Given the description of an element on the screen output the (x, y) to click on. 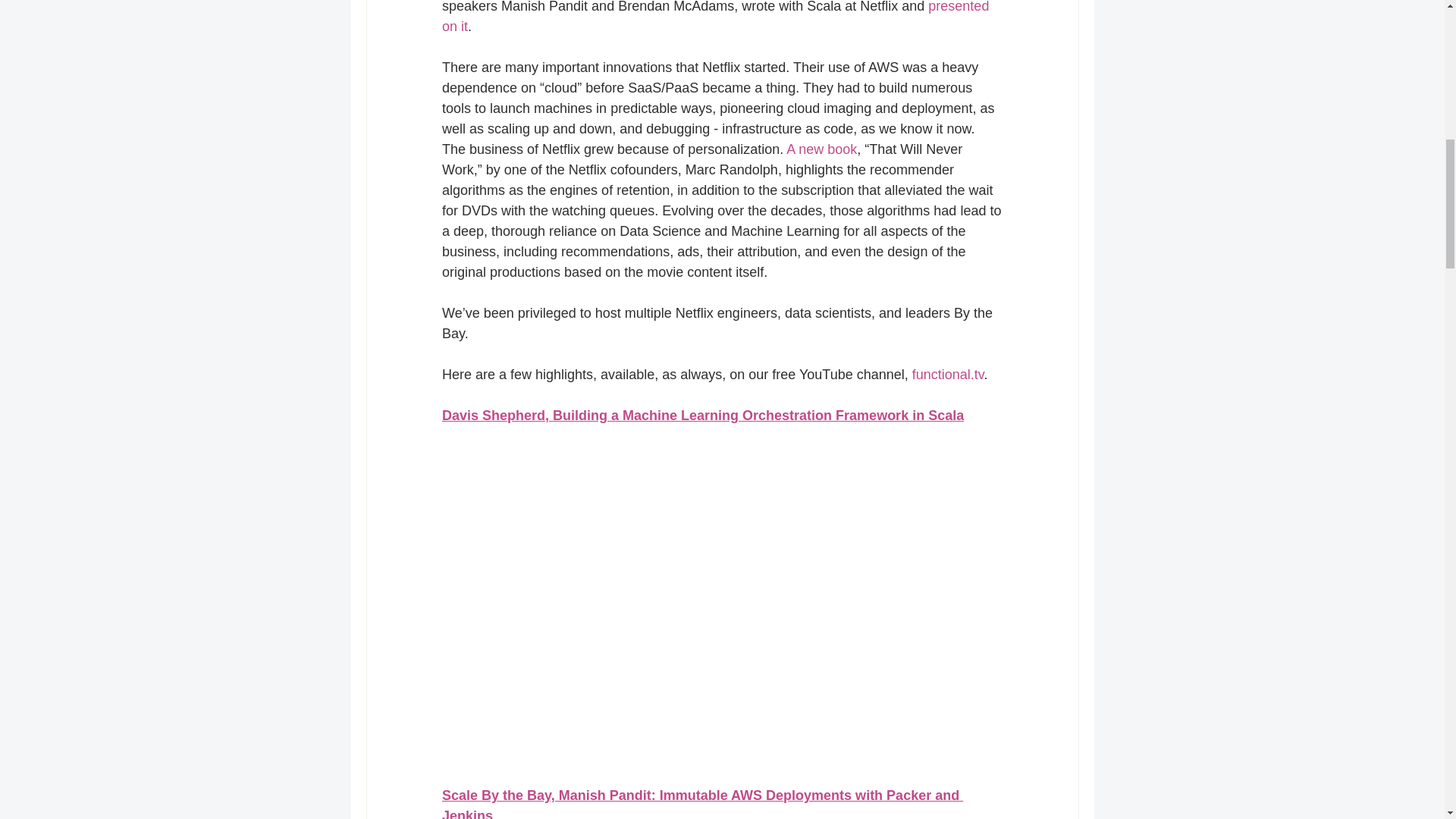
functional.tv (947, 374)
A new book (821, 149)
presented on it (716, 17)
